Given the description of an element on the screen output the (x, y) to click on. 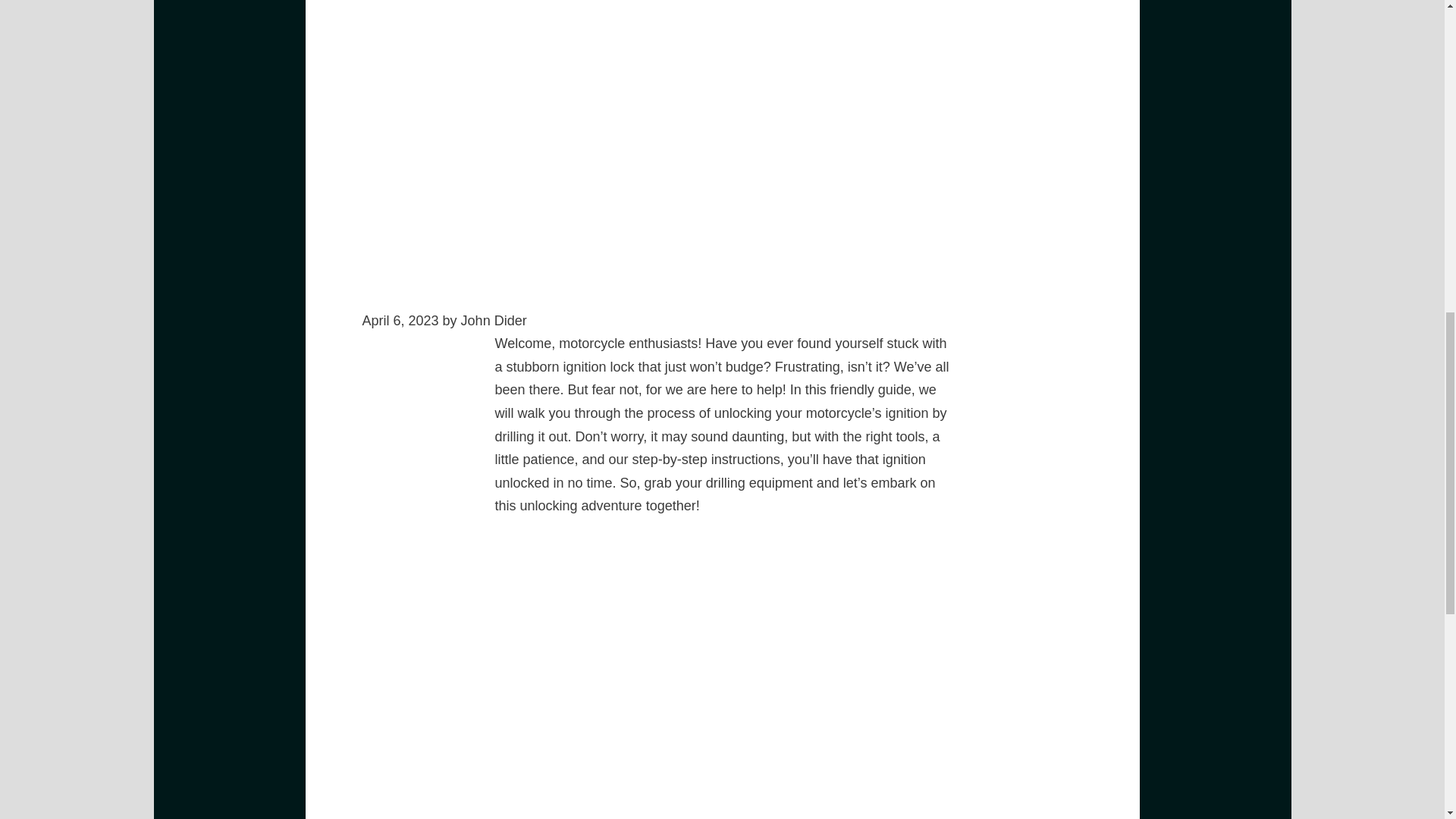
John Dider (494, 320)
View all posts by John Dider (494, 320)
